Given the description of an element on the screen output the (x, y) to click on. 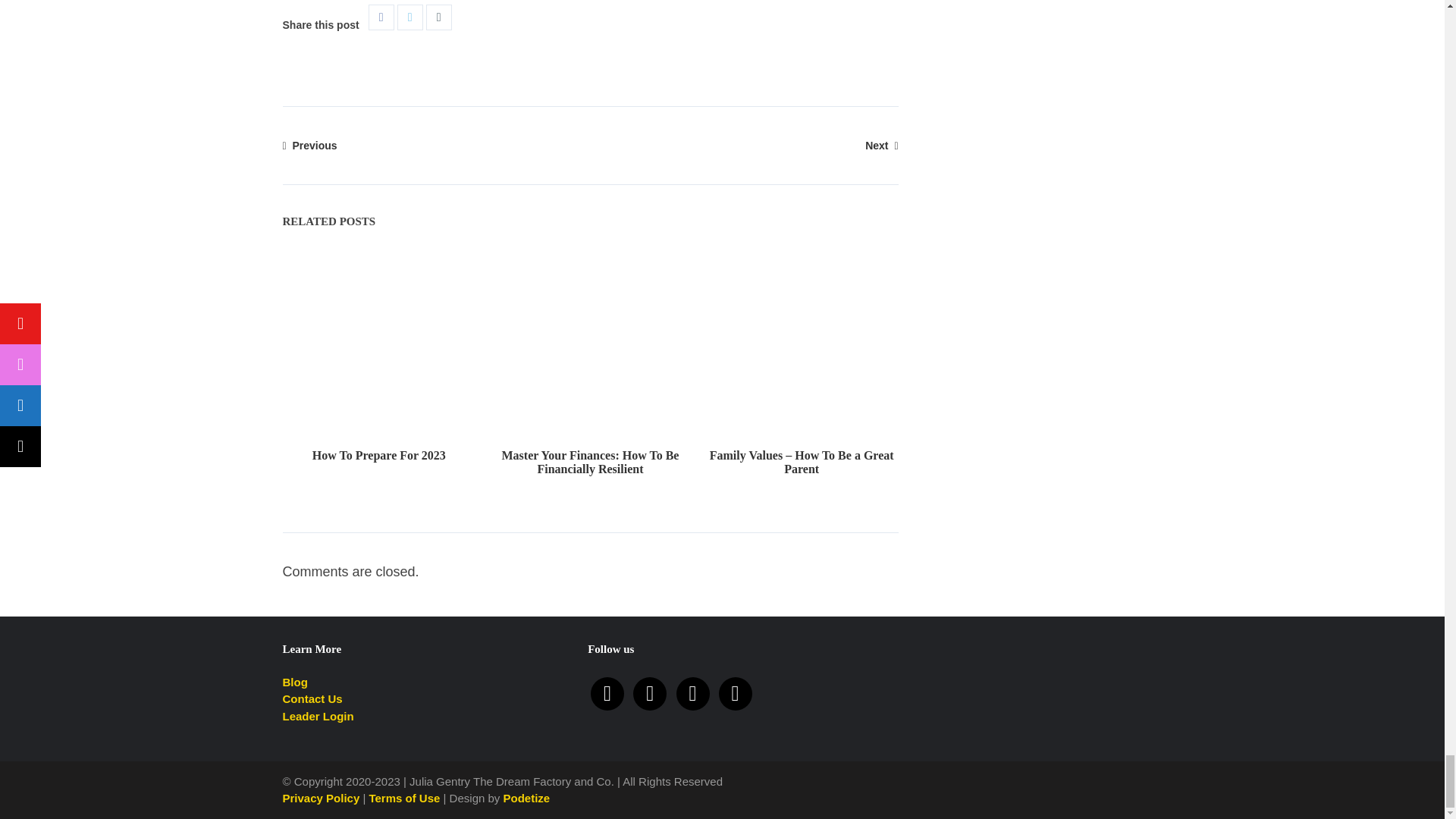
youtube (607, 692)
Share on WhatsApp (438, 16)
tiktok (735, 692)
facebook (693, 692)
Share on Facebook (381, 16)
Share on Twitter (409, 16)
instagram (649, 692)
